Given the description of an element on the screen output the (x, y) to click on. 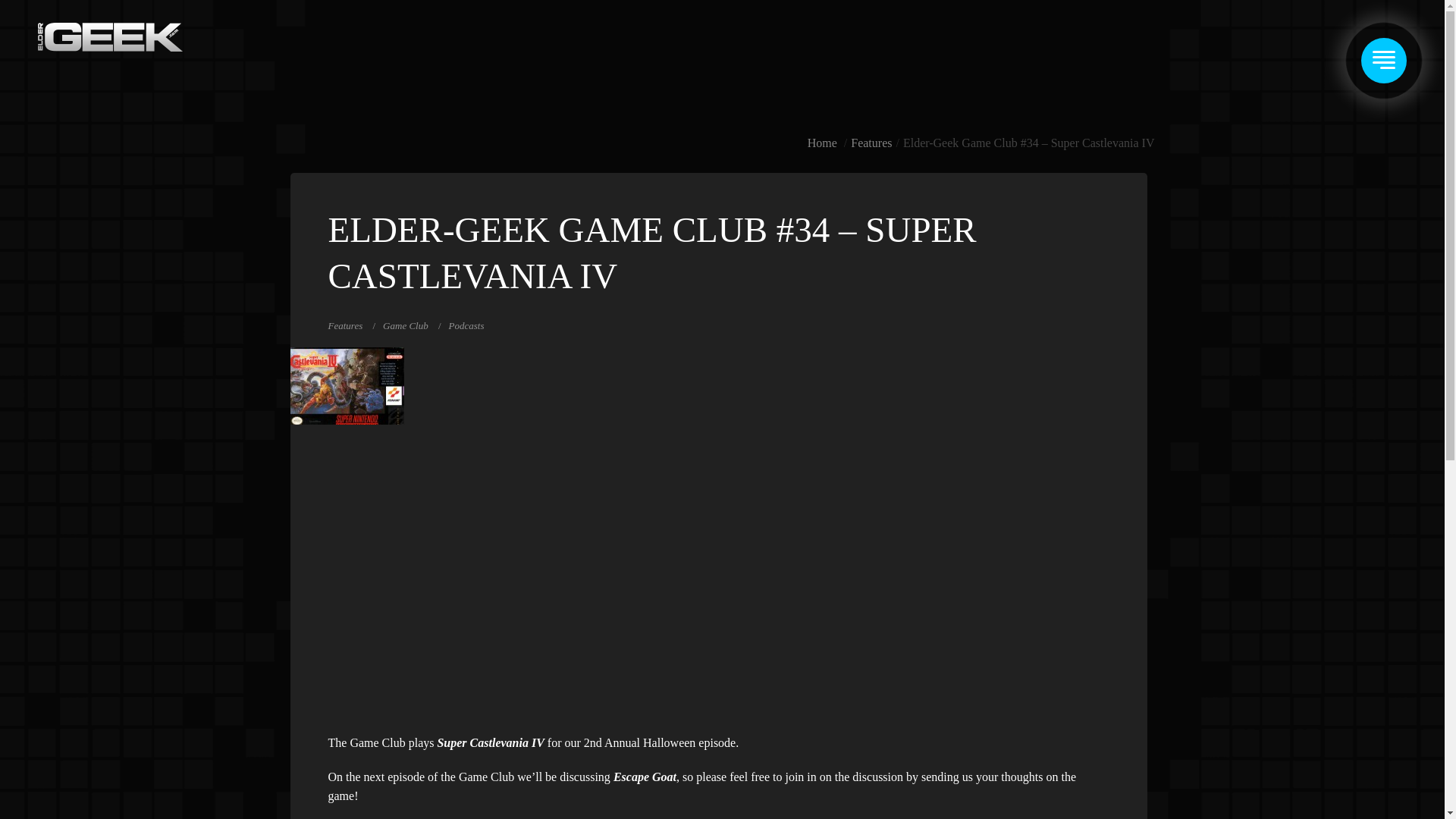
Game Club (405, 325)
Podcasts (466, 325)
Features (344, 325)
Home (822, 142)
Features (870, 142)
